Given the description of an element on the screen output the (x, y) to click on. 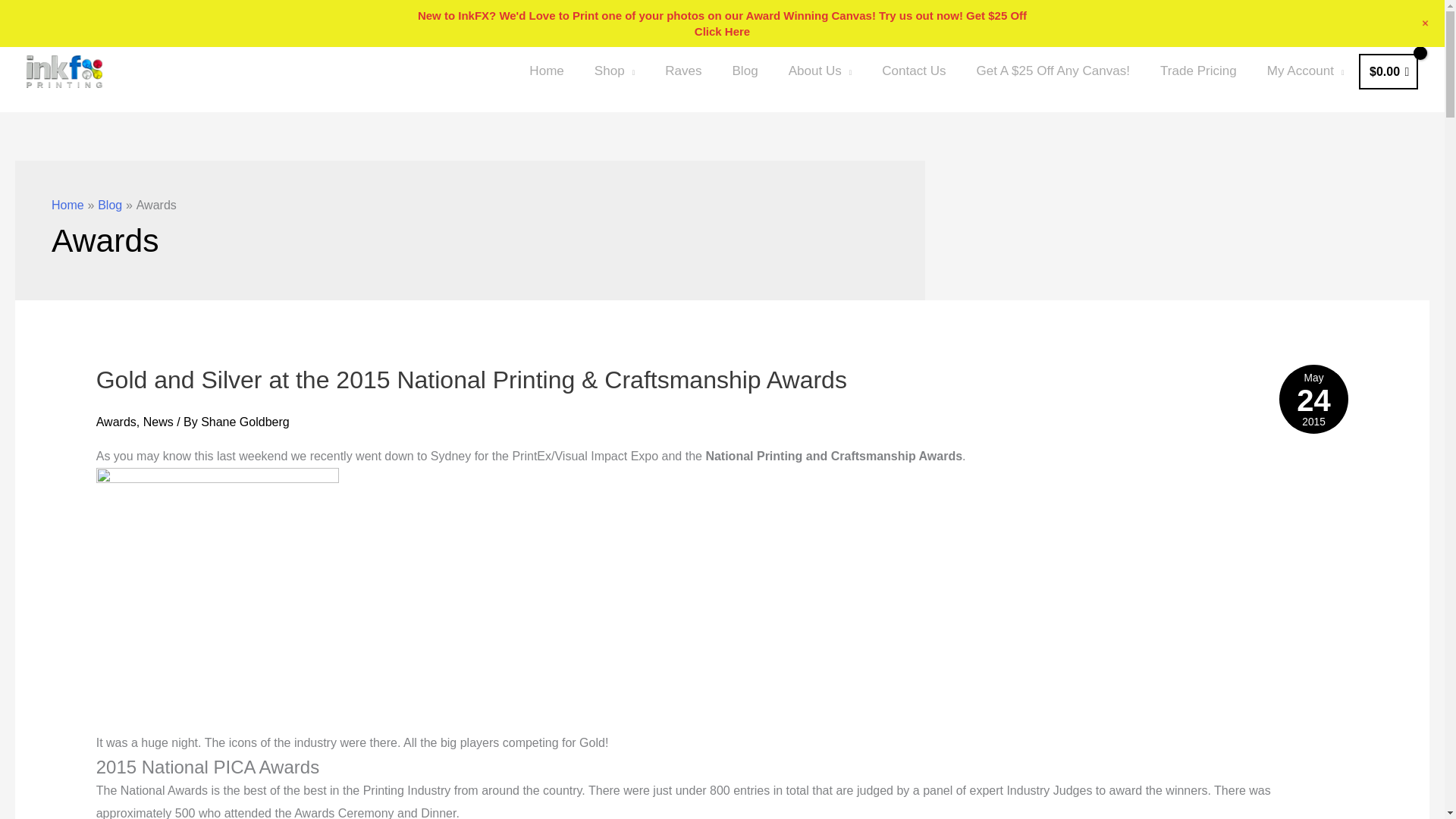
Shop (614, 71)
View all posts by Shane Goldberg (244, 421)
Home (545, 71)
